Given the description of an element on the screen output the (x, y) to click on. 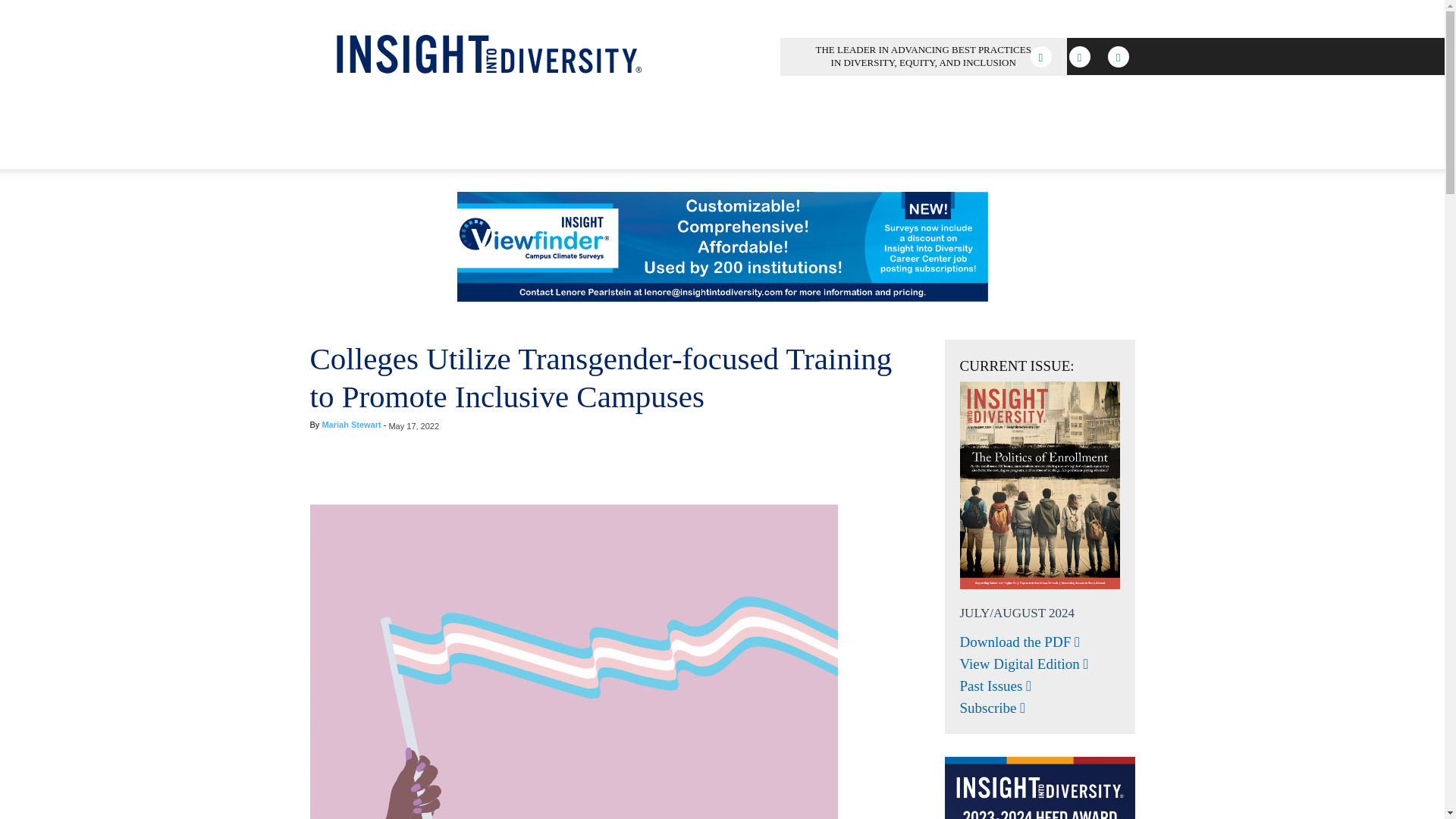
Facebook (1040, 56)
Twitter (1118, 56)
Linkedin (1079, 56)
Posts by Mariah Stewart (350, 424)
